Given the description of an element on the screen output the (x, y) to click on. 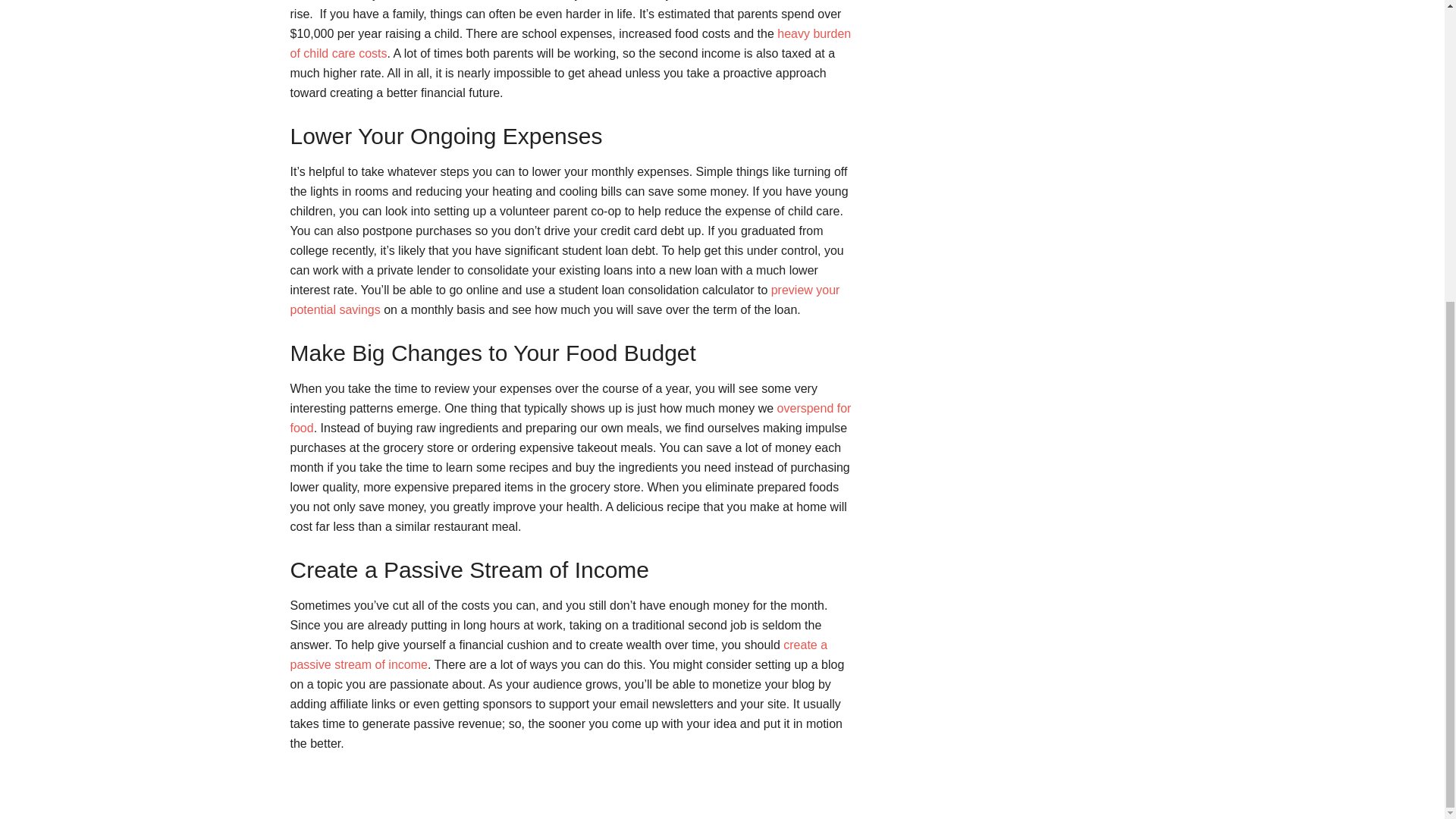
heavy burden of child care costs (569, 43)
create a passive stream of income (558, 654)
preview your potential savings (564, 299)
overspend for food (569, 418)
